Given the description of an element on the screen output the (x, y) to click on. 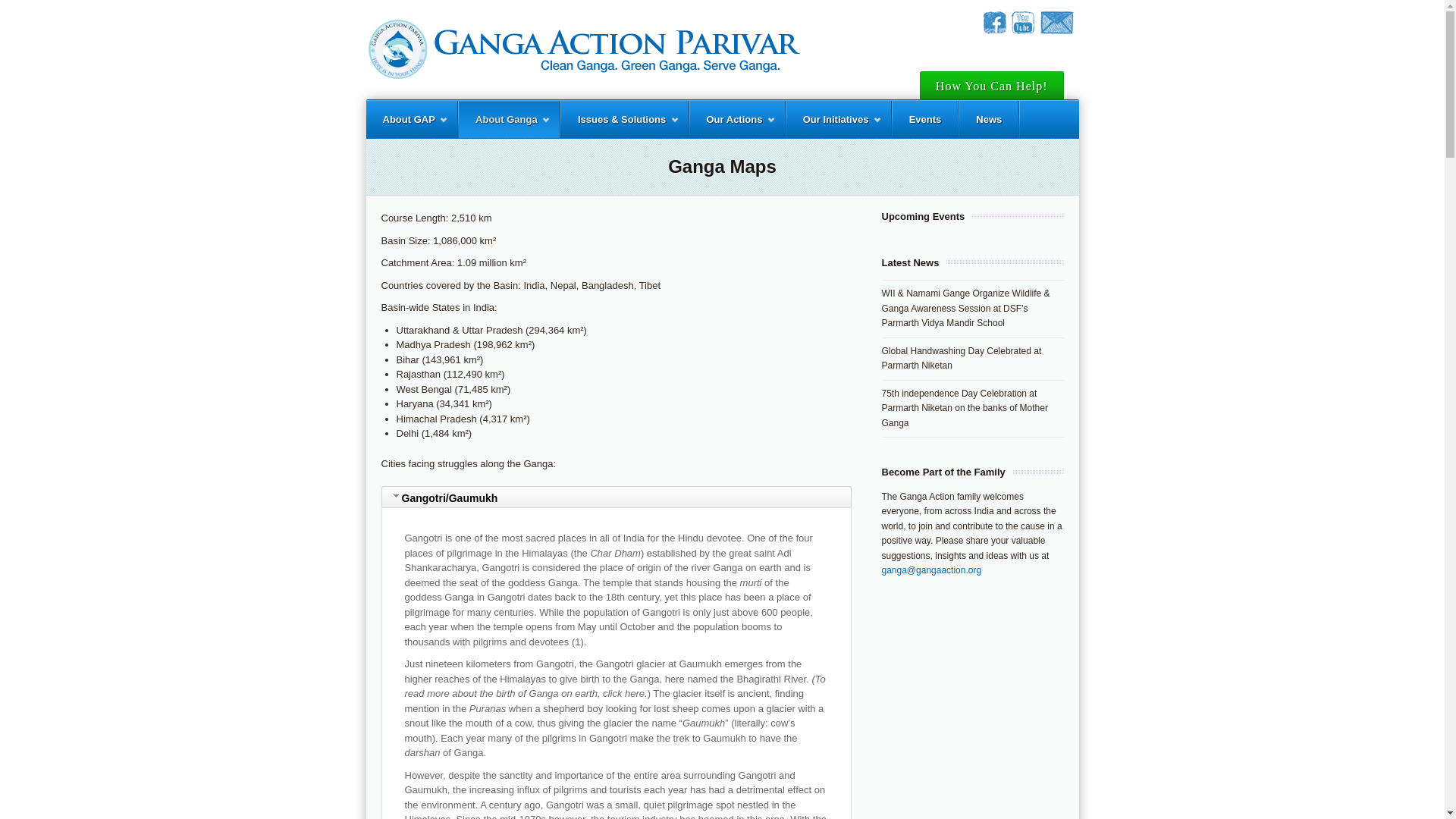
youtube (1022, 30)
facebook (994, 30)
How You Can Help! (992, 85)
How You Can Help! (992, 85)
contact (1056, 30)
Search (1059, 148)
